Given the description of an element on the screen output the (x, y) to click on. 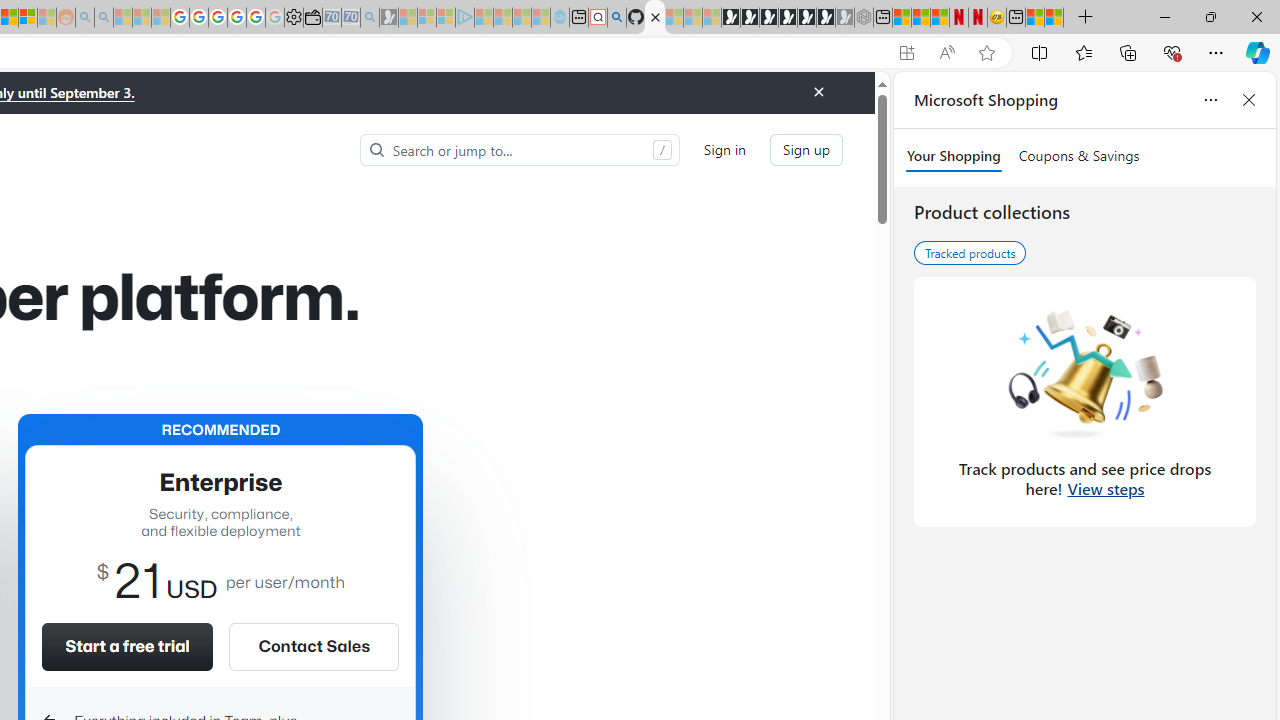
Sign up (806, 149)
